Given the description of an element on the screen output the (x, y) to click on. 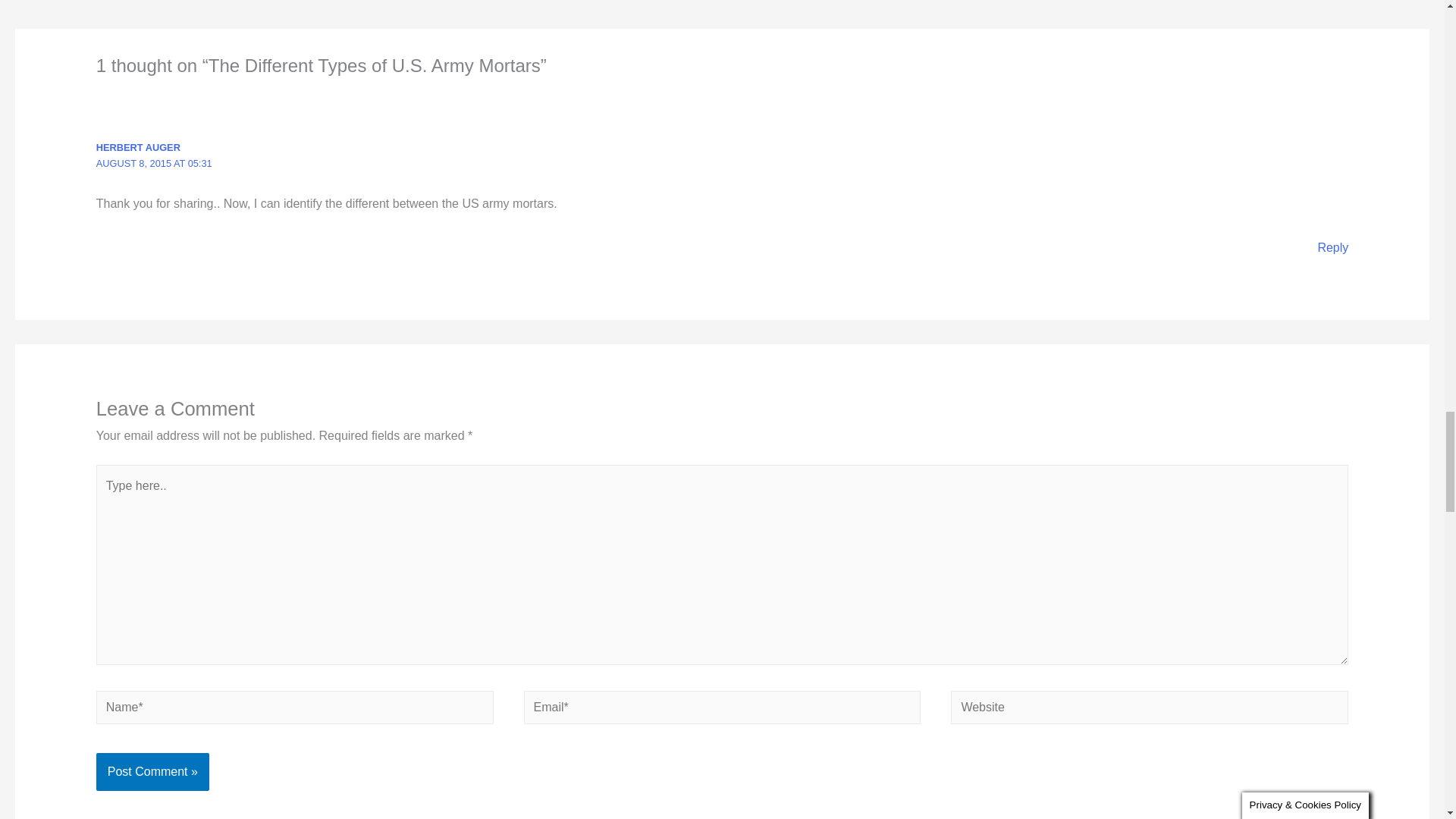
HERBERT AUGER (138, 147)
AUGUST 8, 2015 AT 05:31 (154, 163)
